Given the description of an element on the screen output the (x, y) to click on. 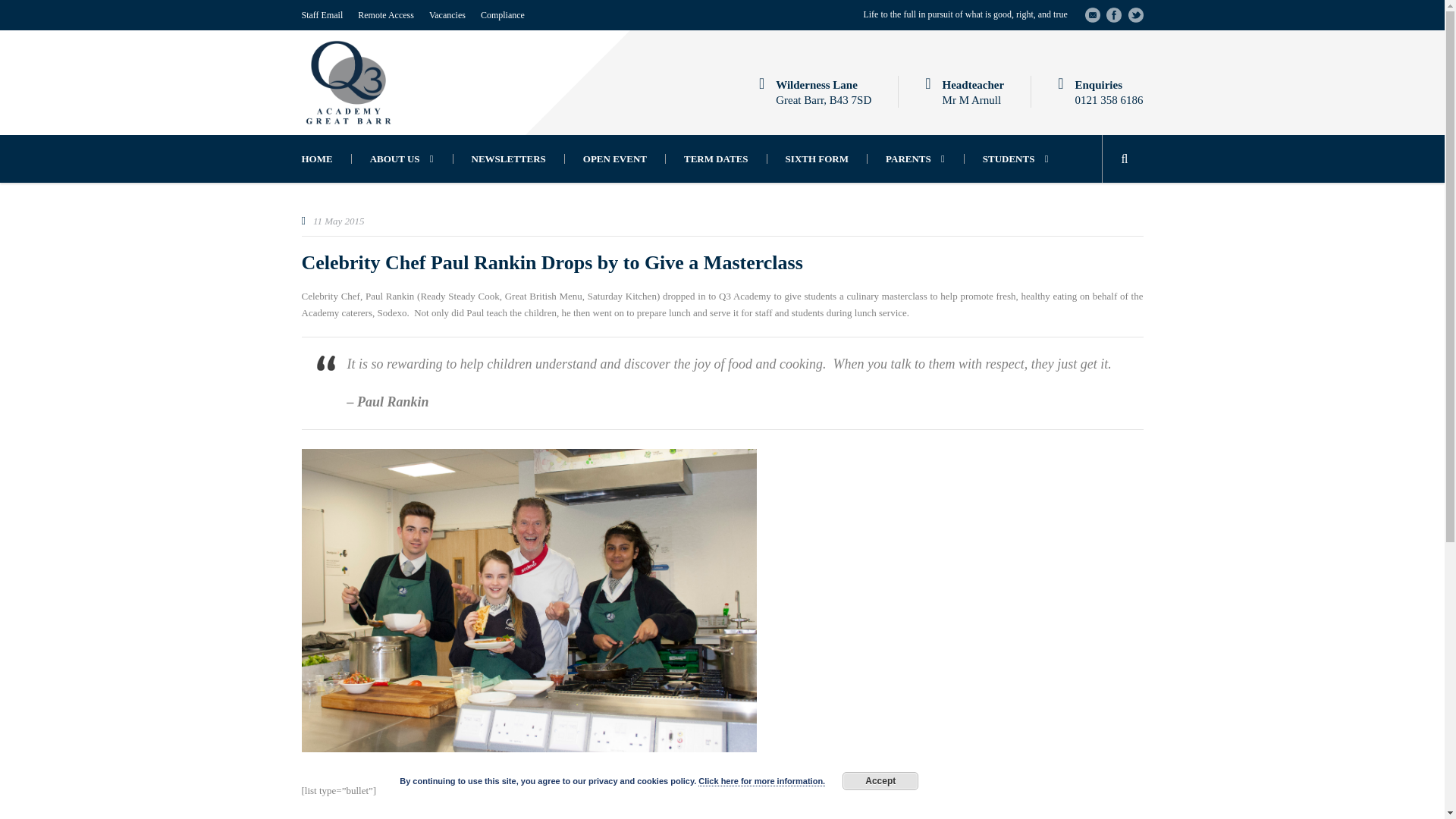
Vacancies (447, 15)
Remote Access (385, 15)
Compliance (502, 15)
Staff Email (322, 15)
